Given the description of an element on the screen output the (x, y) to click on. 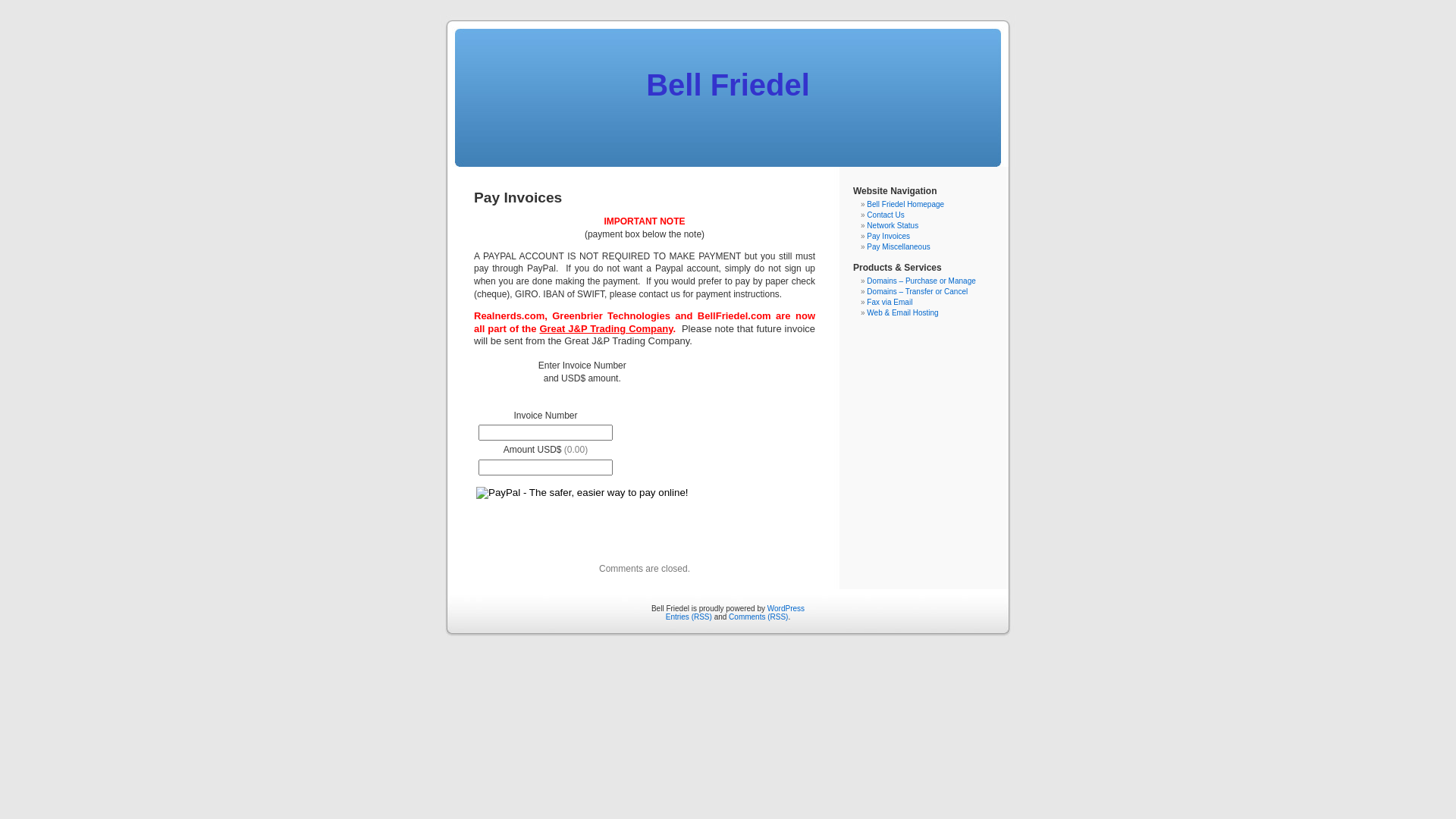
Entries (RSS) Element type: text (688, 616)
Comments (RSS) Element type: text (757, 616)
Network Status Element type: text (892, 225)
Pay Invoices Element type: text (888, 236)
Pay Miscellaneous Element type: text (897, 246)
Bell Friedel Homepage Element type: text (905, 204)
WordPress Element type: text (785, 608)
Bell Friedel Element type: text (727, 84)
Contact Us Element type: text (884, 214)
Fax via Email Element type: text (889, 302)
Web & Email Hosting Element type: text (902, 312)
